Given the description of an element on the screen output the (x, y) to click on. 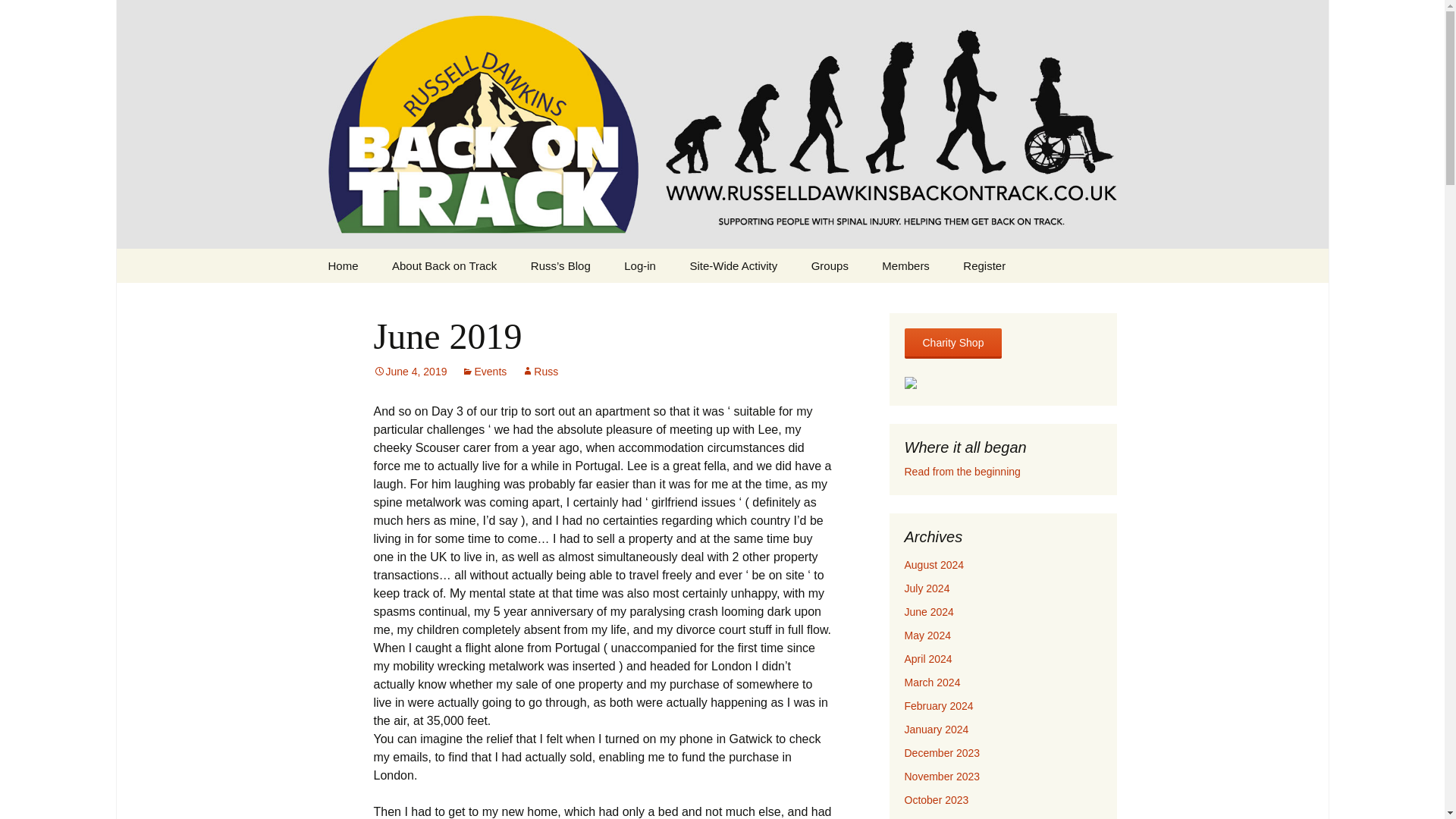
Groups (829, 265)
Charity Shop (952, 343)
Russ (539, 371)
March 2024 (931, 682)
June 4, 2019 (409, 371)
November 2023 (941, 776)
View all posts by Russ (539, 371)
Register (983, 265)
Charity Shop (952, 342)
